Given the description of an element on the screen output the (x, y) to click on. 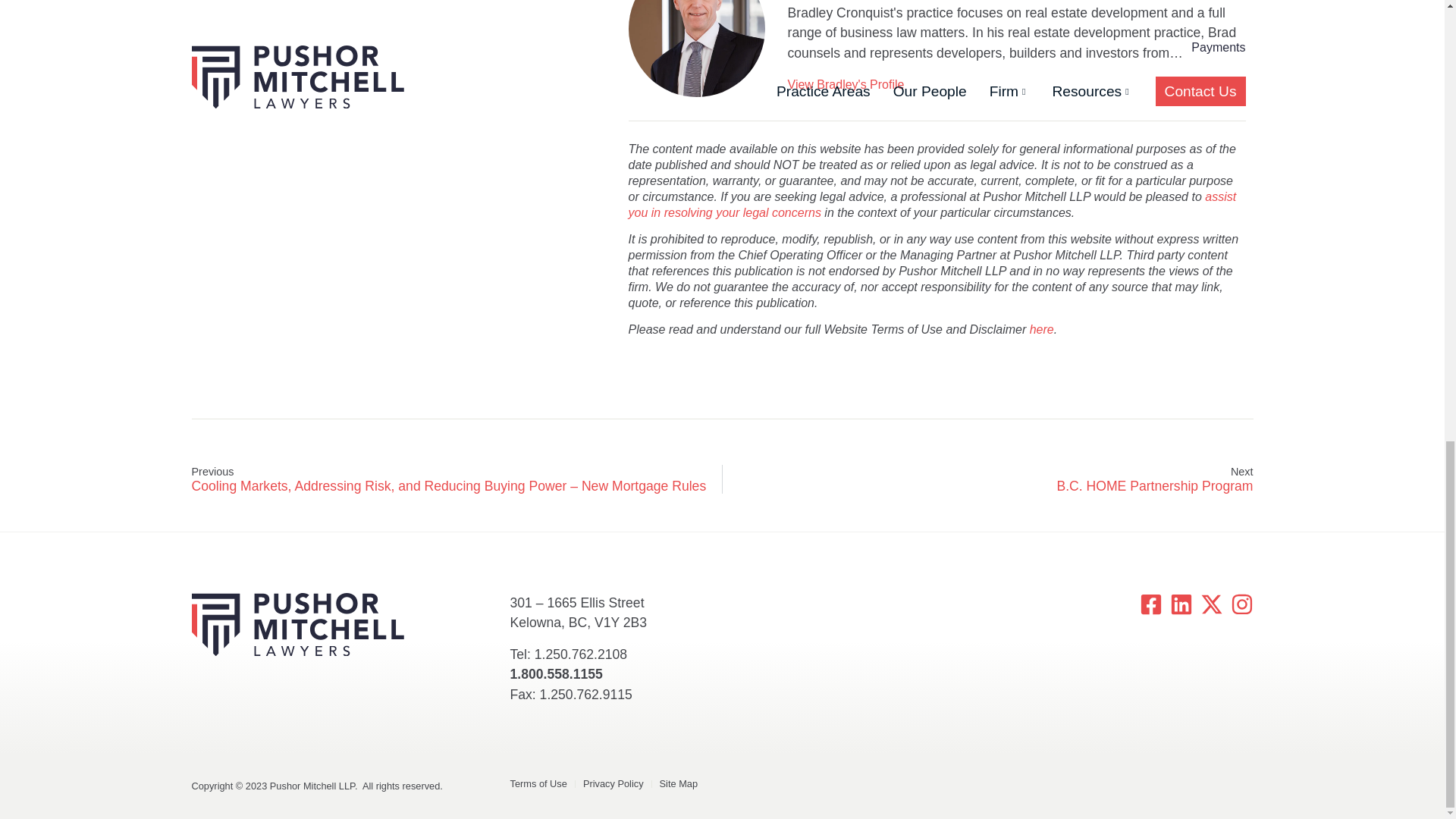
Bradley Cronquist (696, 48)
